Given the description of an element on the screen output the (x, y) to click on. 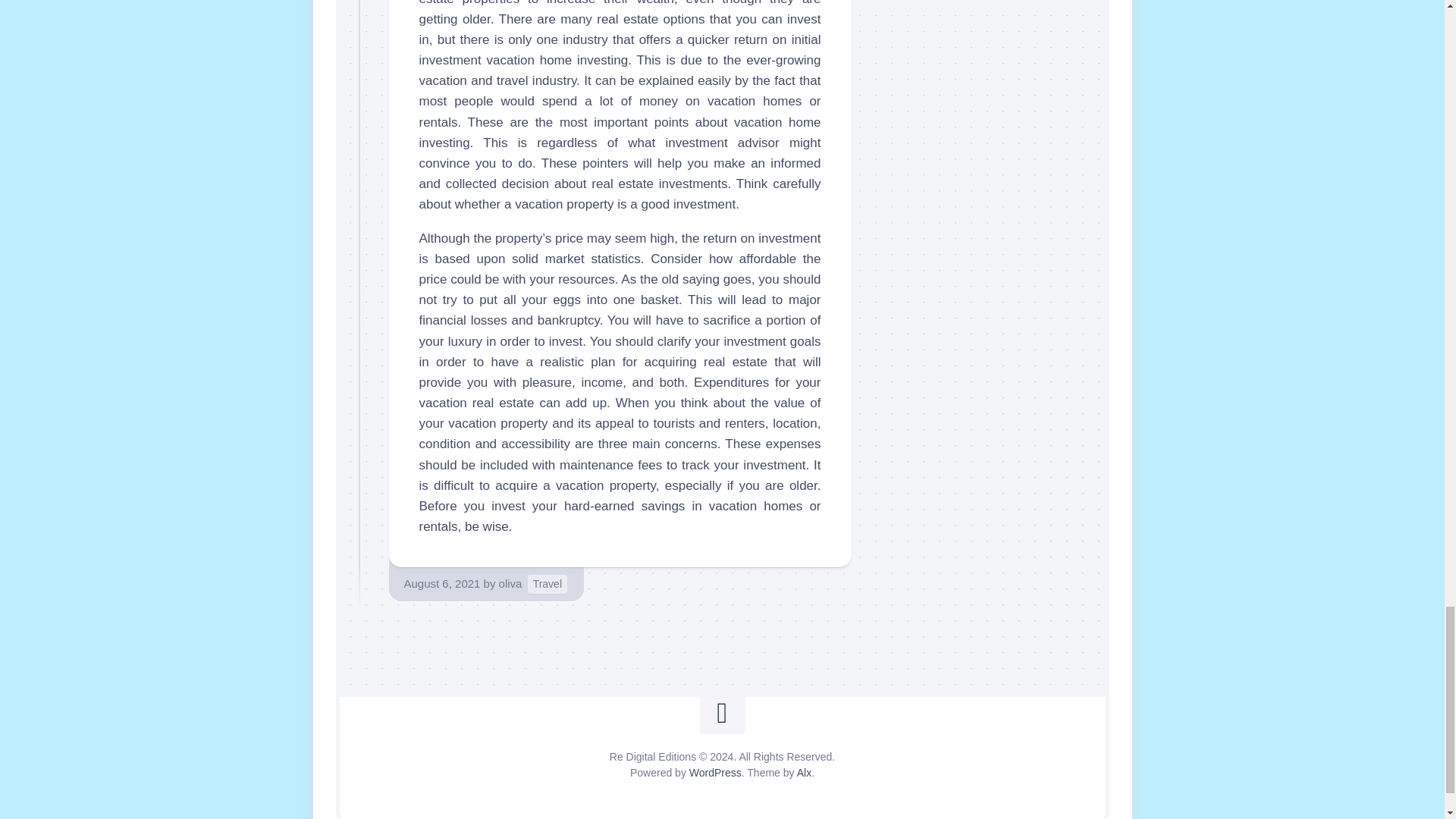
Posts by oliva (510, 583)
WordPress (714, 772)
Alx (803, 772)
oliva (510, 583)
Travel (547, 583)
